Given the description of an element on the screen output the (x, y) to click on. 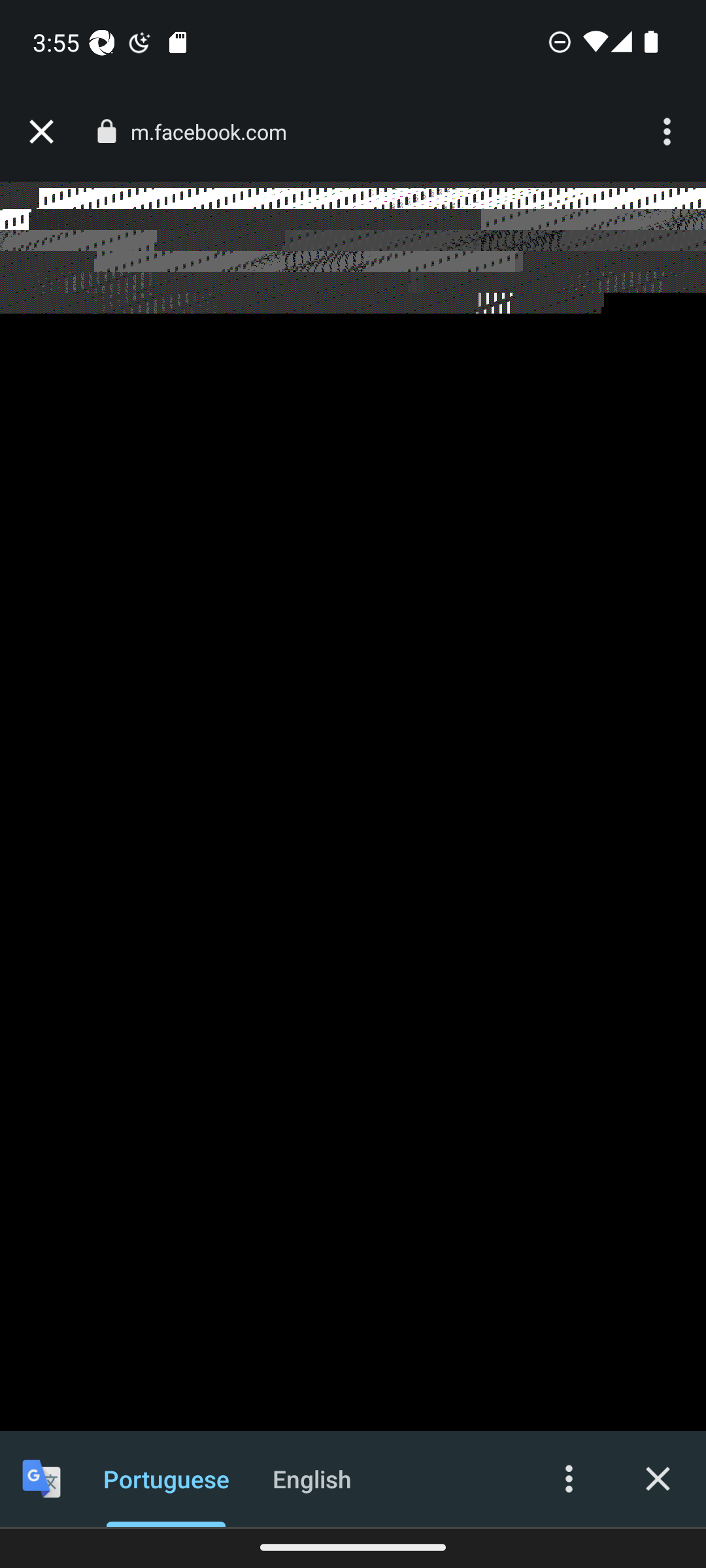
Close tab (41, 131)
More options (669, 131)
Connection is secure (106, 131)
m.facebook.com (215, 131)
English (312, 1478)
More options (568, 1478)
Close (657, 1478)
